Given the description of an element on the screen output the (x, y) to click on. 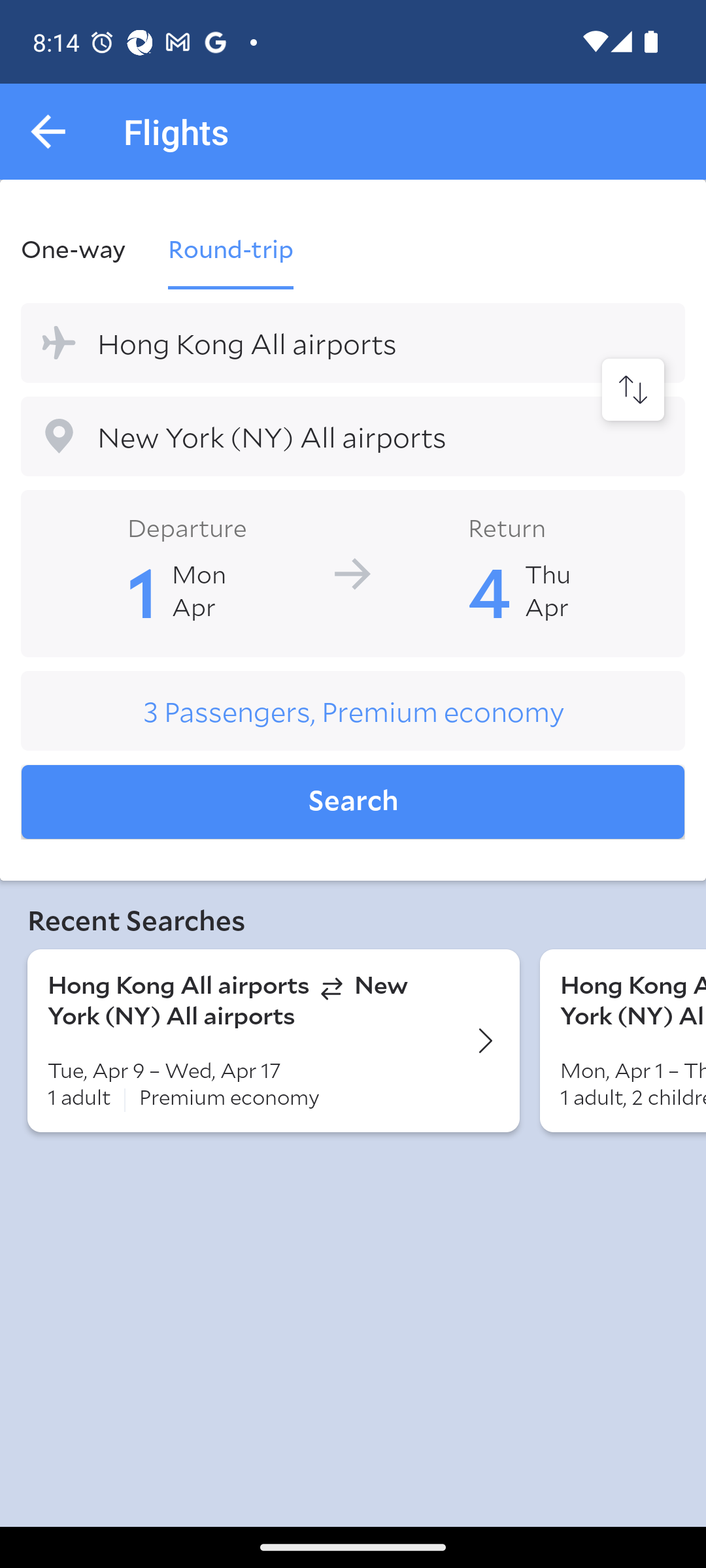
One-way (83, 248)
Hong Kong All airports (352, 342)
New York (NY) All airports (352, 436)
Departure 1 Mon Apr Return 4 Thu Apr (352, 572)
3 Passengers, Premium economy (352, 711)
Search  Search (352, 801)
